Given the description of an element on the screen output the (x, y) to click on. 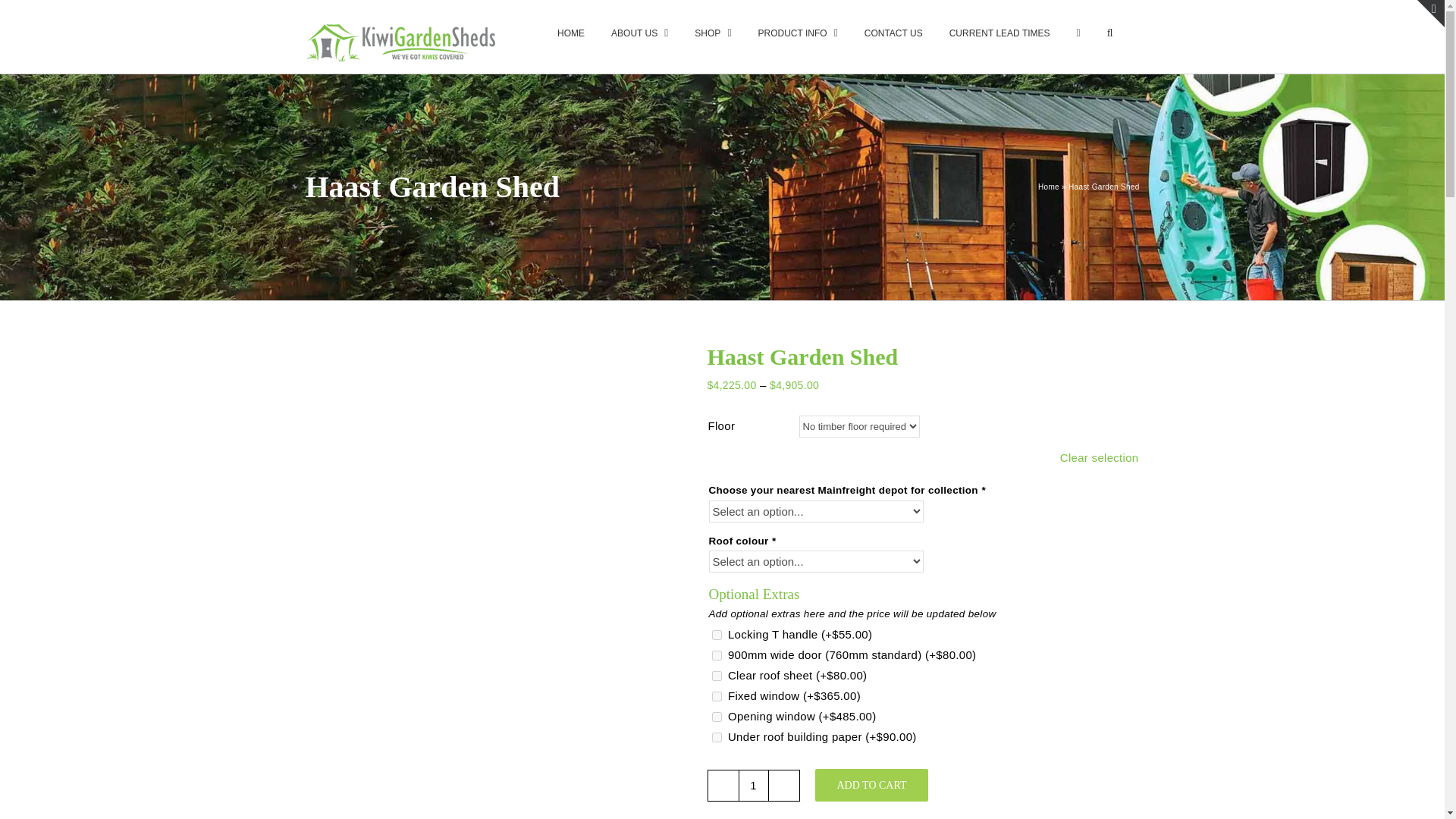
PRODUCT INFO (798, 31)
10 Year warranty (494, 745)
Required field (983, 490)
CONTACT US (893, 31)
900mm-wide-door-760mm-standard (715, 655)
HOME (571, 31)
ABOUT US (639, 31)
clear-roof-sheet (715, 675)
opening-window (715, 716)
CURRENT LEAD TIMES (999, 31)
fixed-window (715, 696)
locking-t-handle (715, 634)
Search (1109, 31)
Required field (773, 541)
SHOP (712, 31)
